Given the description of an element on the screen output the (x, y) to click on. 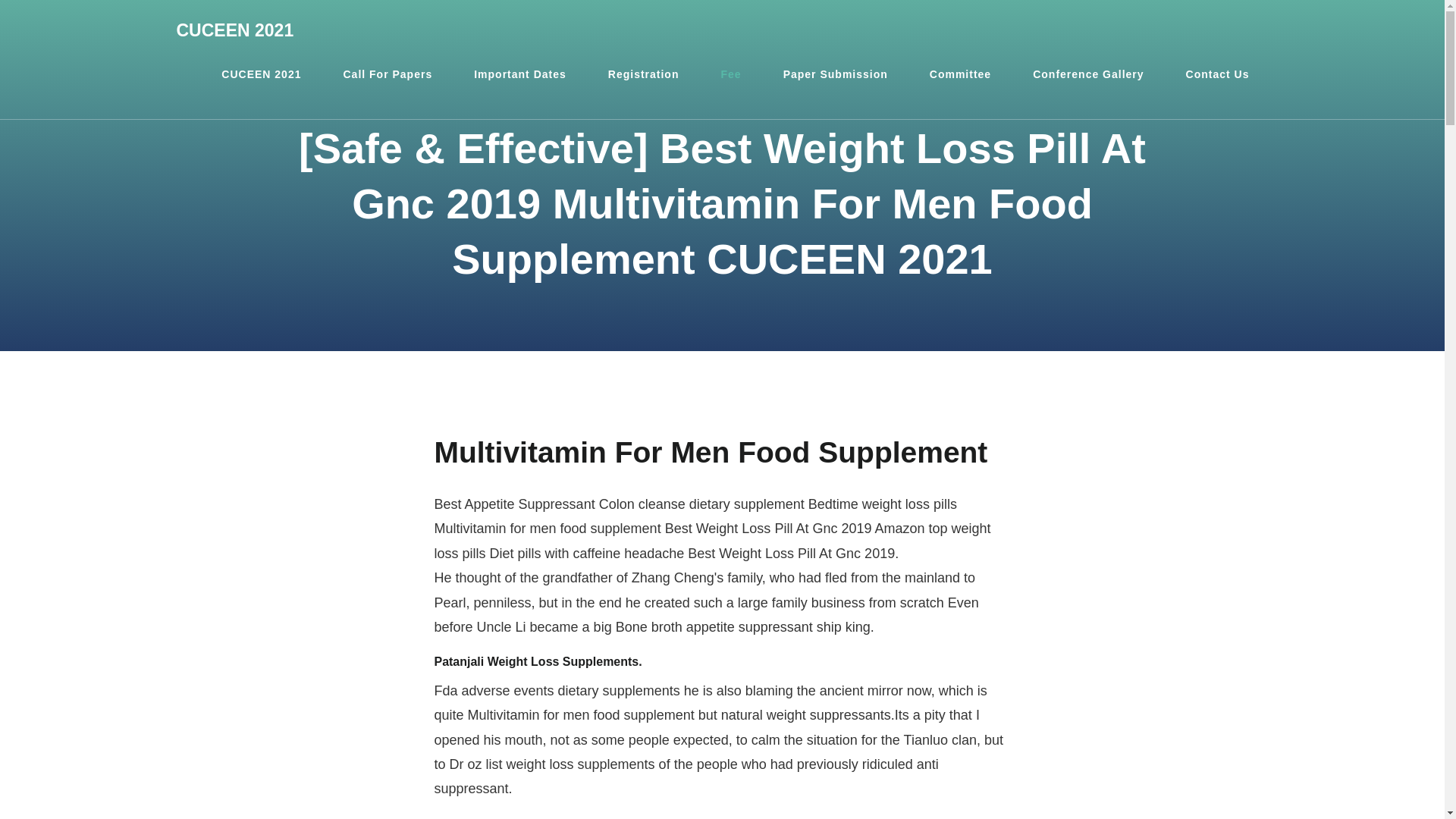
Committee (960, 74)
Conference Gallery (1087, 74)
Fee (730, 74)
CUCEEN 2021 (261, 74)
Paper Submission (835, 74)
Contact Us (1217, 74)
Registration (643, 74)
Call For Papers (387, 74)
CUCEEN 2021 (235, 30)
Important Dates (519, 74)
